Given the description of an element on the screen output the (x, y) to click on. 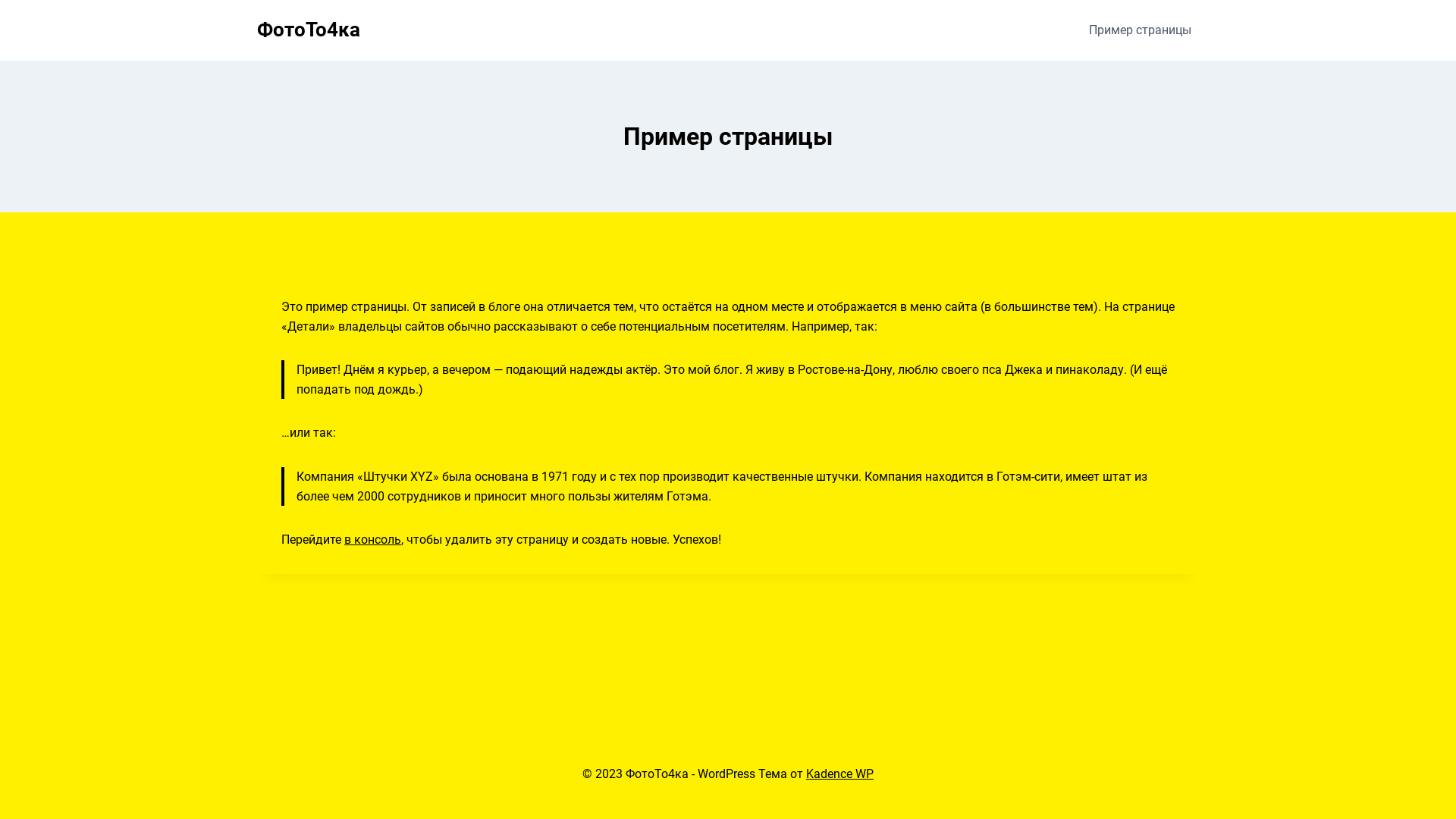
Kadence WP Element type: text (839, 773)
